Given the description of an element on the screen output the (x, y) to click on. 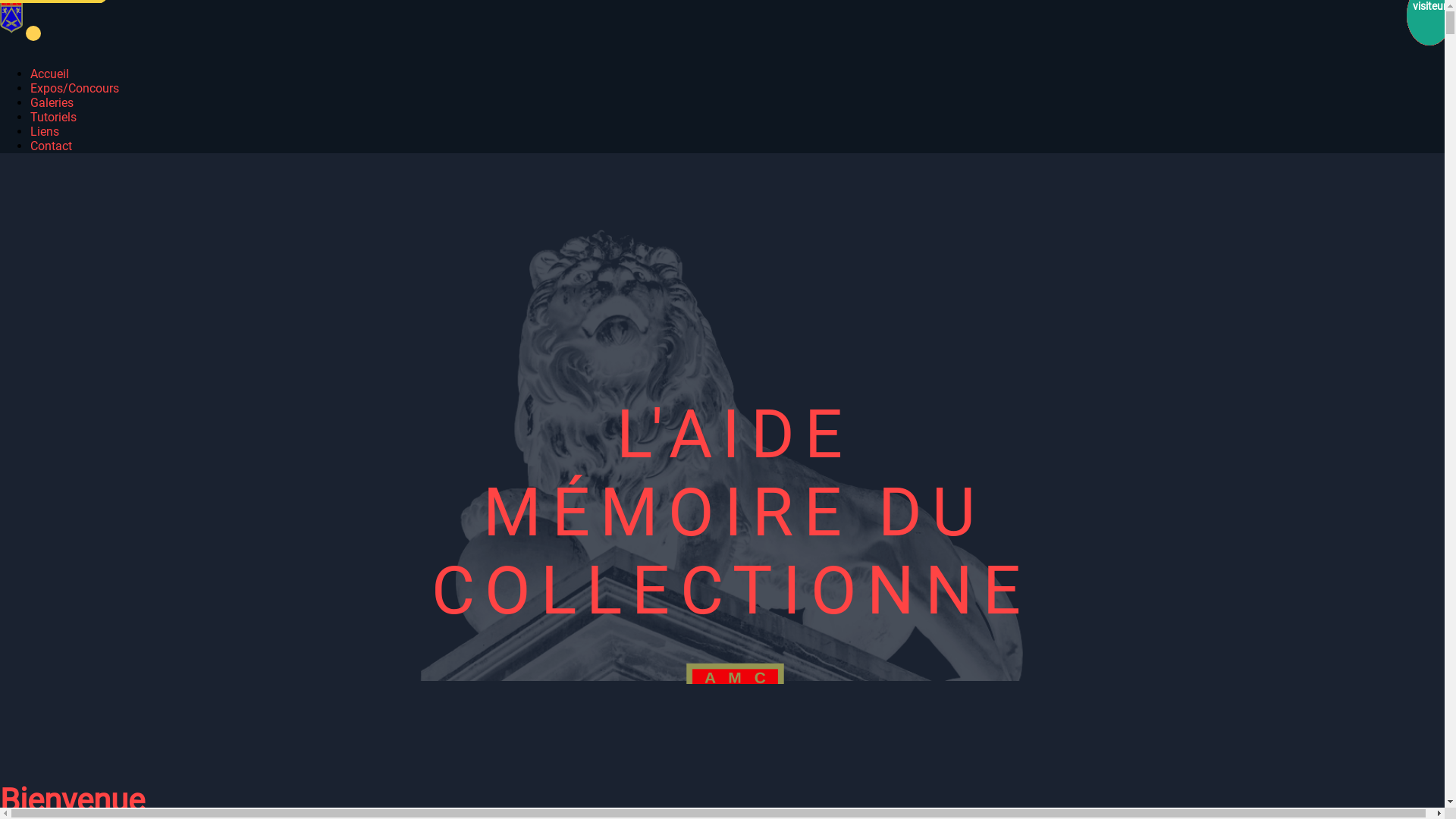
Tutoriels Element type: text (53, 116)
Expos/Concours Element type: text (74, 88)
Contact Element type: text (51, 145)
Accueil Element type: text (49, 73)
Galeries Element type: text (51, 102)
Liens Element type: text (44, 131)
